Given the description of an element on the screen output the (x, y) to click on. 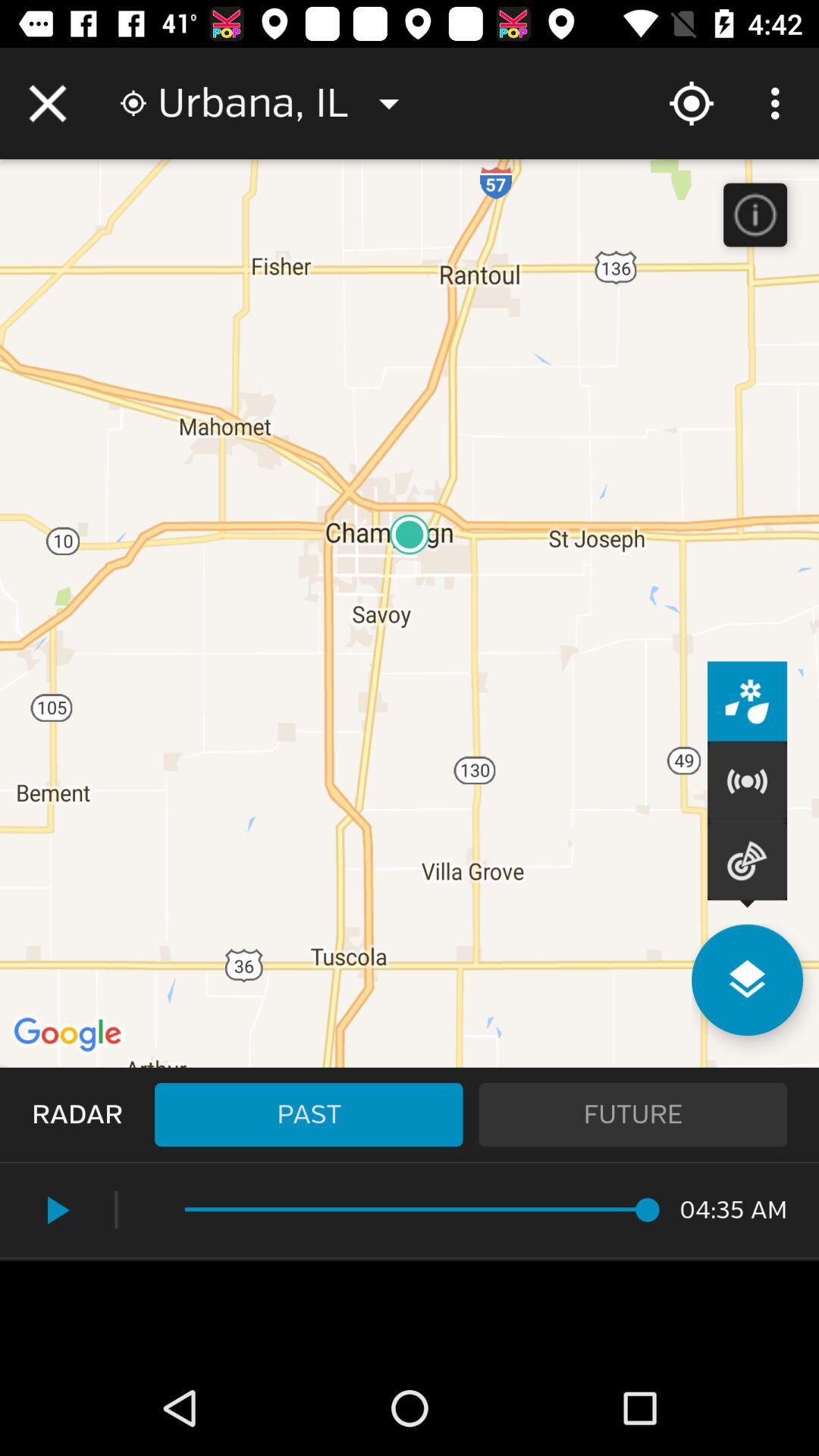
press icon to the left of | (55, 1210)
